Given the description of an element on the screen output the (x, y) to click on. 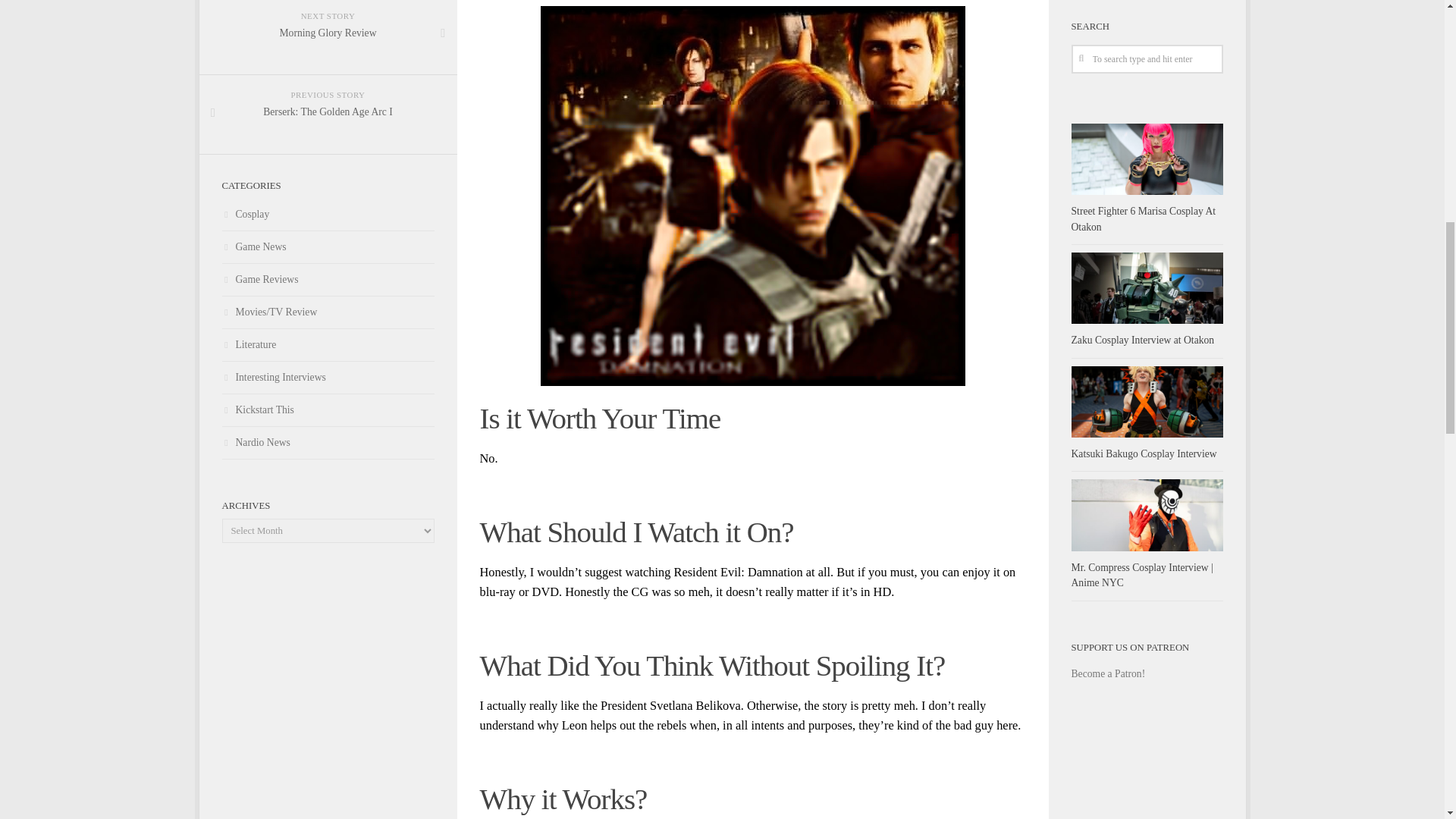
Permalink to Zaku Cosplay Interview at Otakon (1142, 339)
Nardio News (327, 442)
Game Reviews (327, 279)
Literature (327, 37)
Cosplay (327, 345)
Interesting Interviews (327, 214)
Kickstart This (327, 377)
Permalink to Katsuki Bakugo Cosplay Interview (327, 409)
Game News (1142, 453)
